Given the description of an element on the screen output the (x, y) to click on. 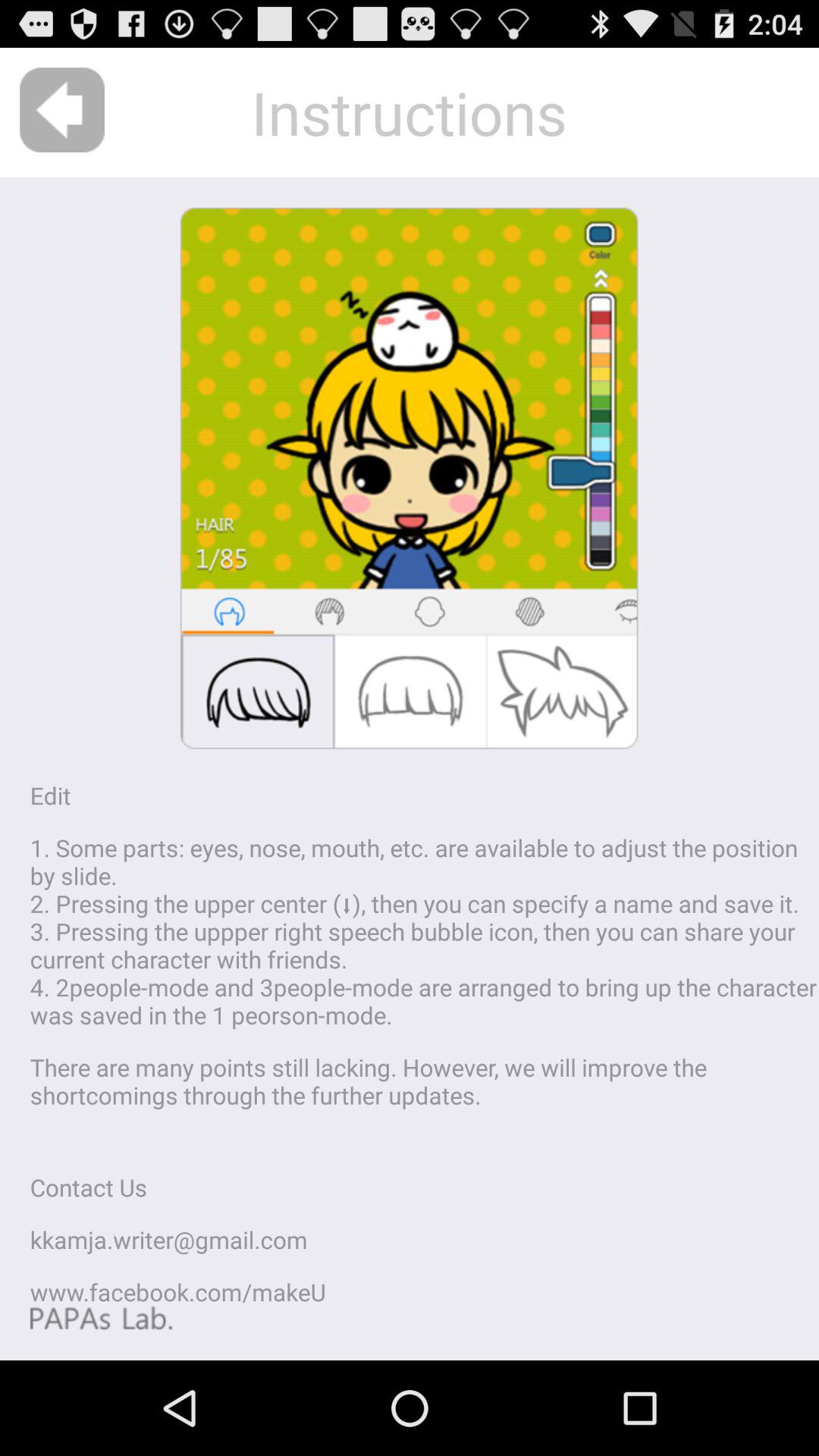
select kkamja writer gmail app (168, 1239)
